Given the description of an element on the screen output the (x, y) to click on. 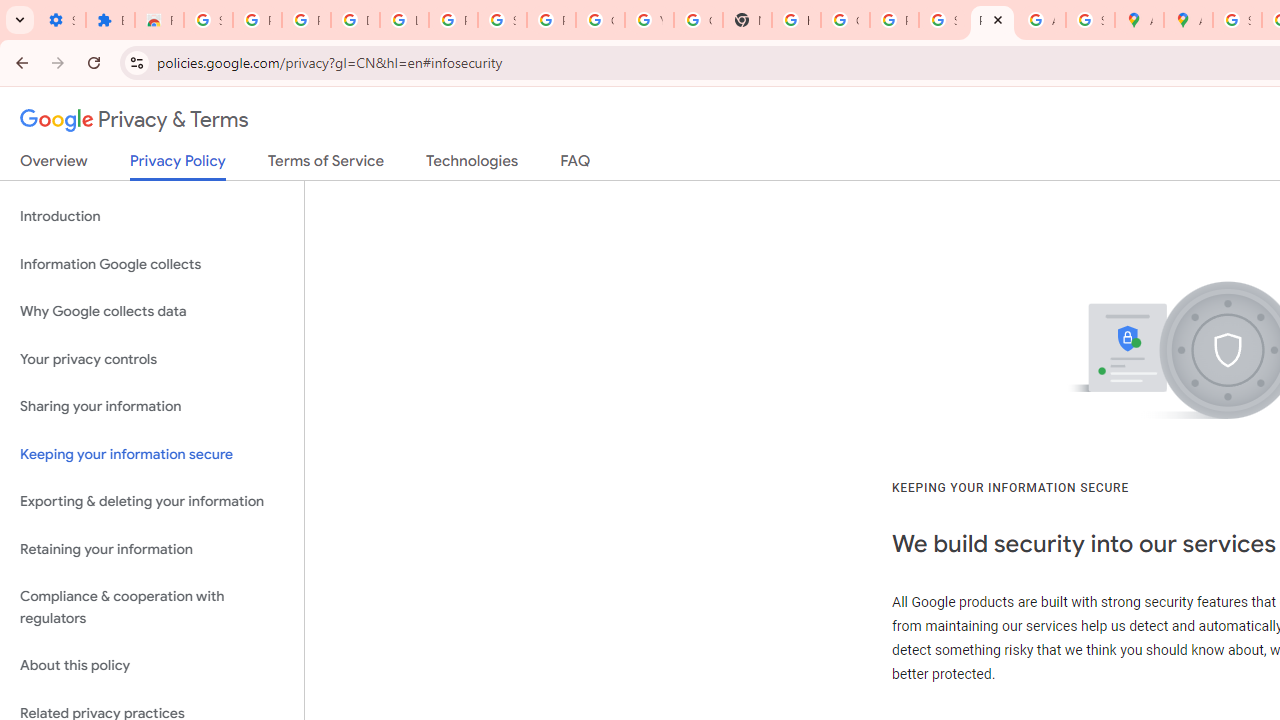
Sharing your information (152, 407)
https://scholar.google.com/ (795, 20)
About this policy (152, 666)
Your privacy controls (152, 358)
